Given the description of an element on the screen output the (x, y) to click on. 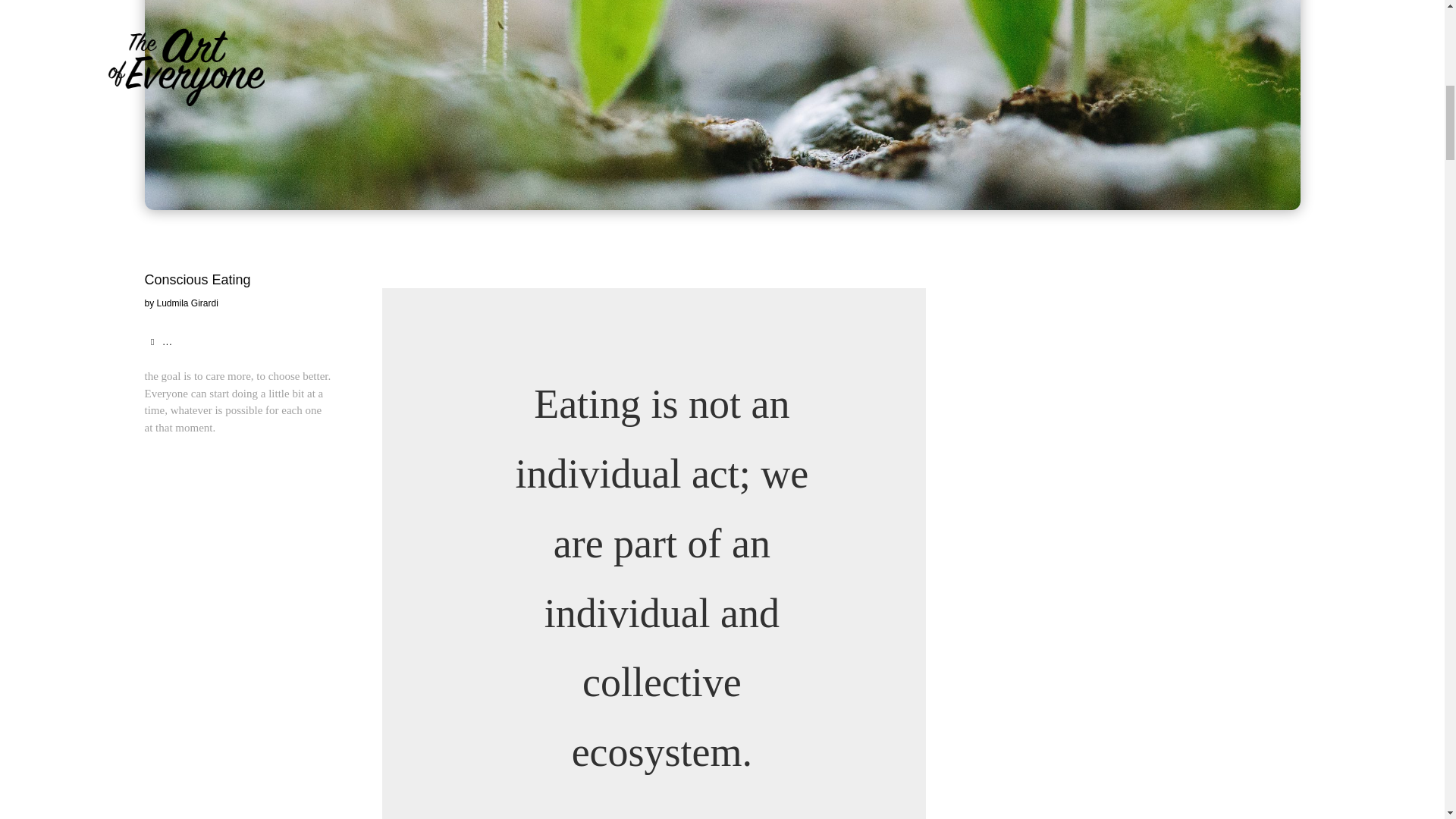
Ludmila Girardi (187, 303)
Posts by Ludmila Girardi (187, 303)
... (160, 341)
